Given the description of an element on the screen output the (x, y) to click on. 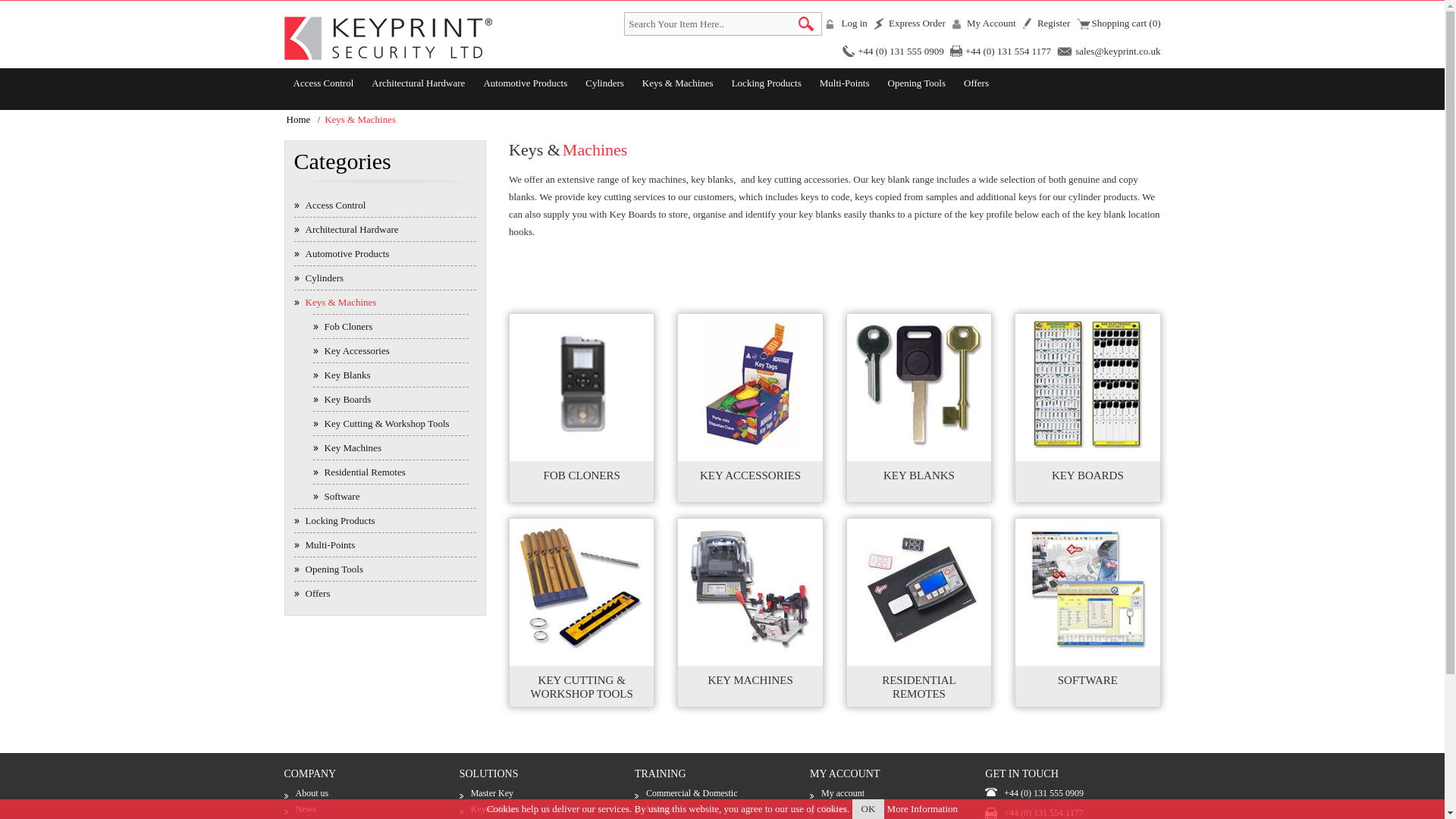
Search Your Item Here.. (710, 24)
Register (1046, 23)
Access Control (322, 82)
Keyprint Security (387, 37)
Express Order (908, 23)
Search (809, 24)
Log in (845, 23)
Search Your Item Here.. (710, 24)
My Account (984, 23)
Search (809, 24)
